Given the description of an element on the screen output the (x, y) to click on. 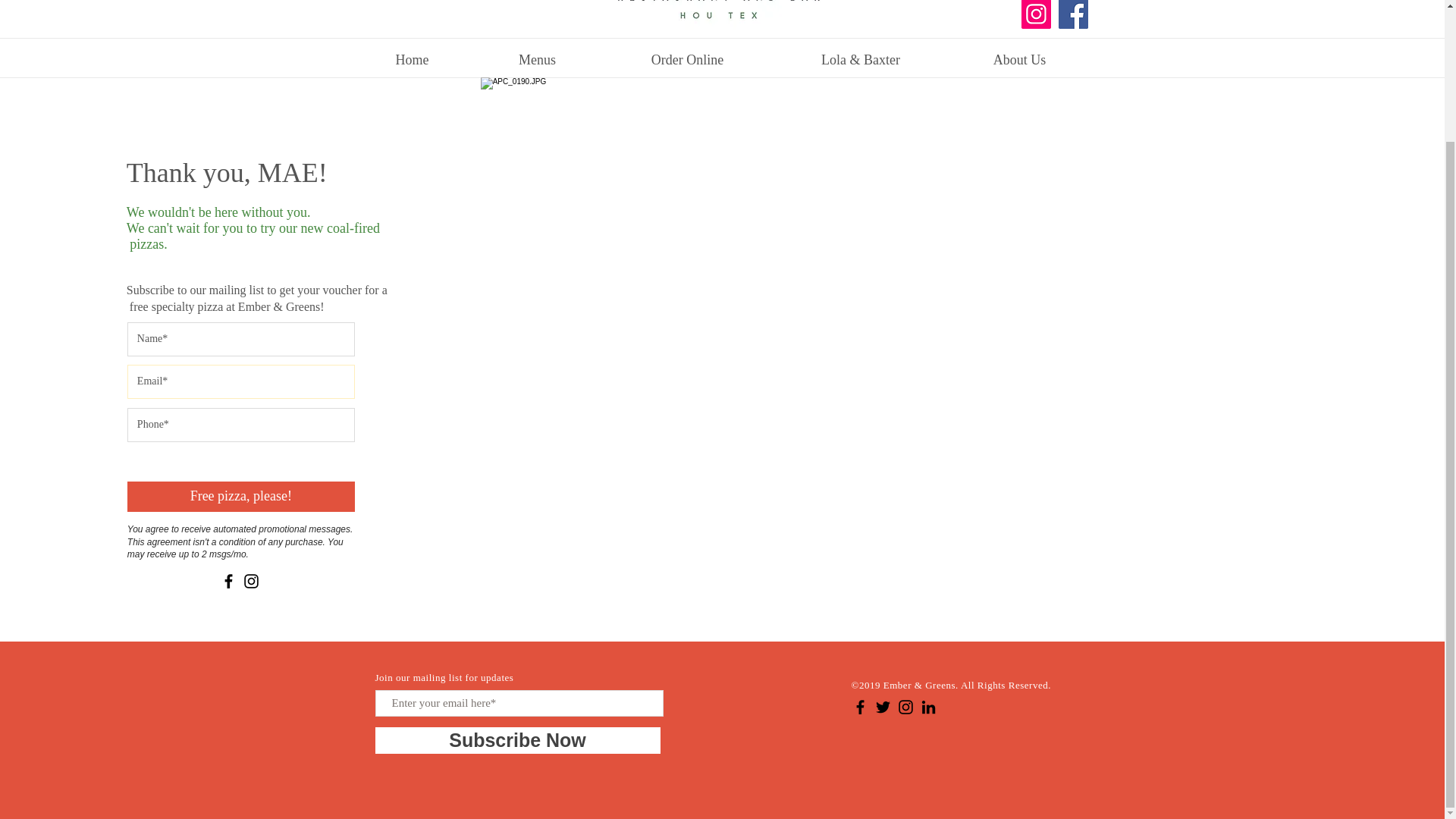
Menus (536, 59)
Free pizza, please! (241, 496)
Subscribe Now (516, 740)
Home (411, 59)
